Given the description of an element on the screen output the (x, y) to click on. 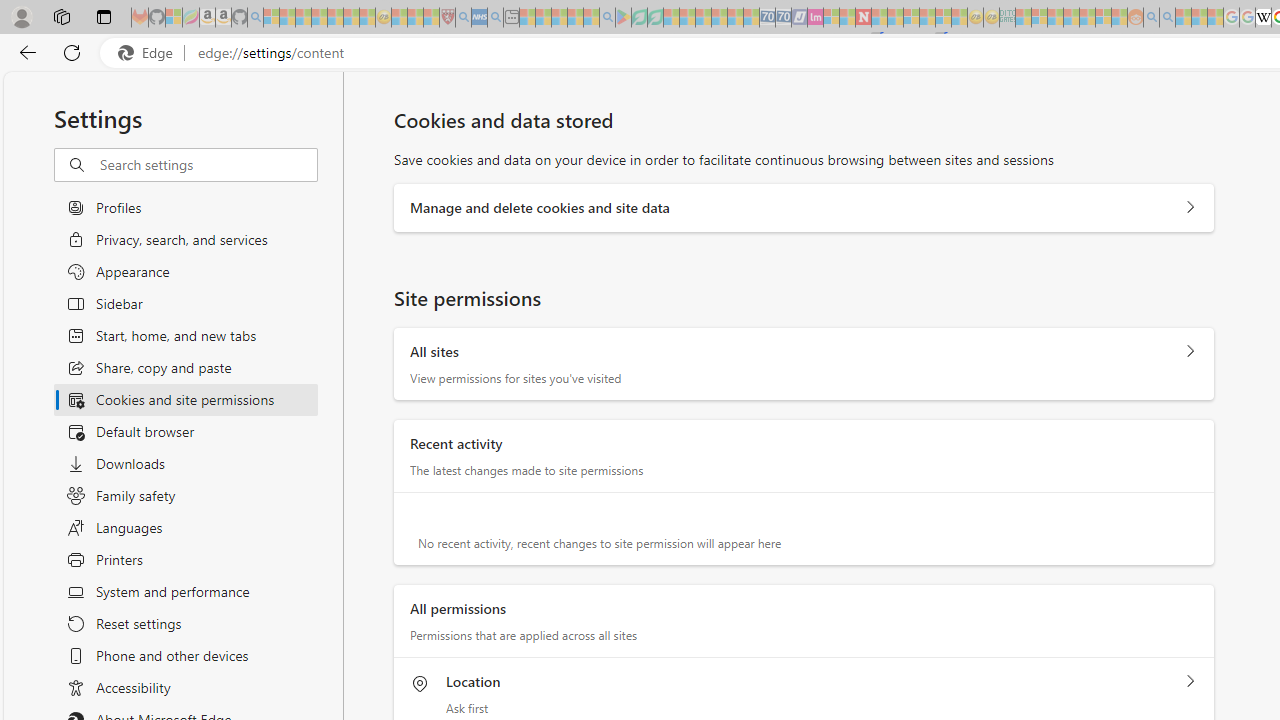
DITOGAMES AG Imprint - Sleeping (1007, 17)
